Given the description of an element on the screen output the (x, y) to click on. 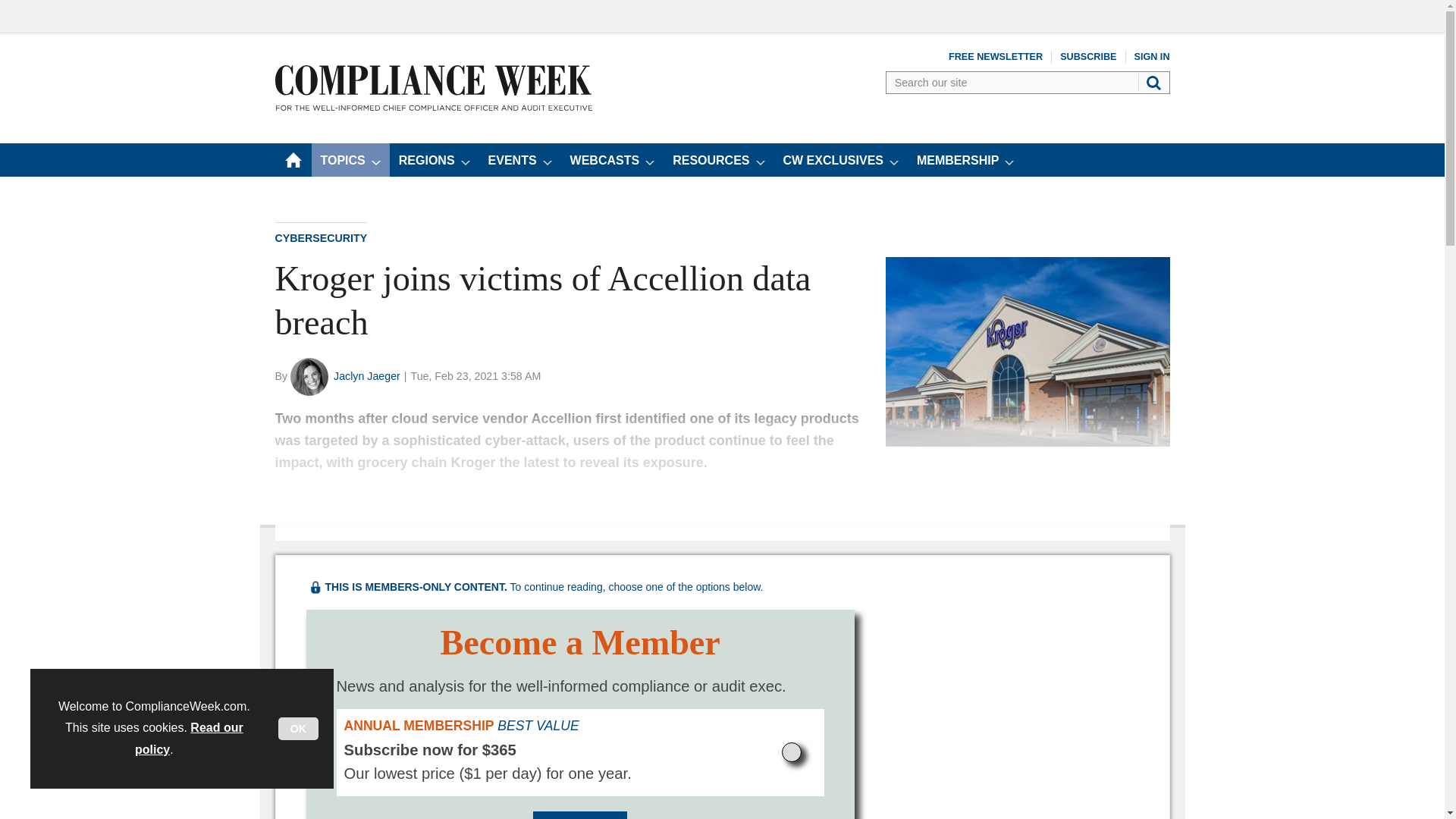
FREE NEWSLETTER (995, 56)
OK (298, 728)
SEARCH (1155, 82)
Compliance Week (433, 106)
Read our policy (189, 738)
SUBSCRIBE (1087, 56)
SIGN IN (1152, 56)
